Given the description of an element on the screen output the (x, y) to click on. 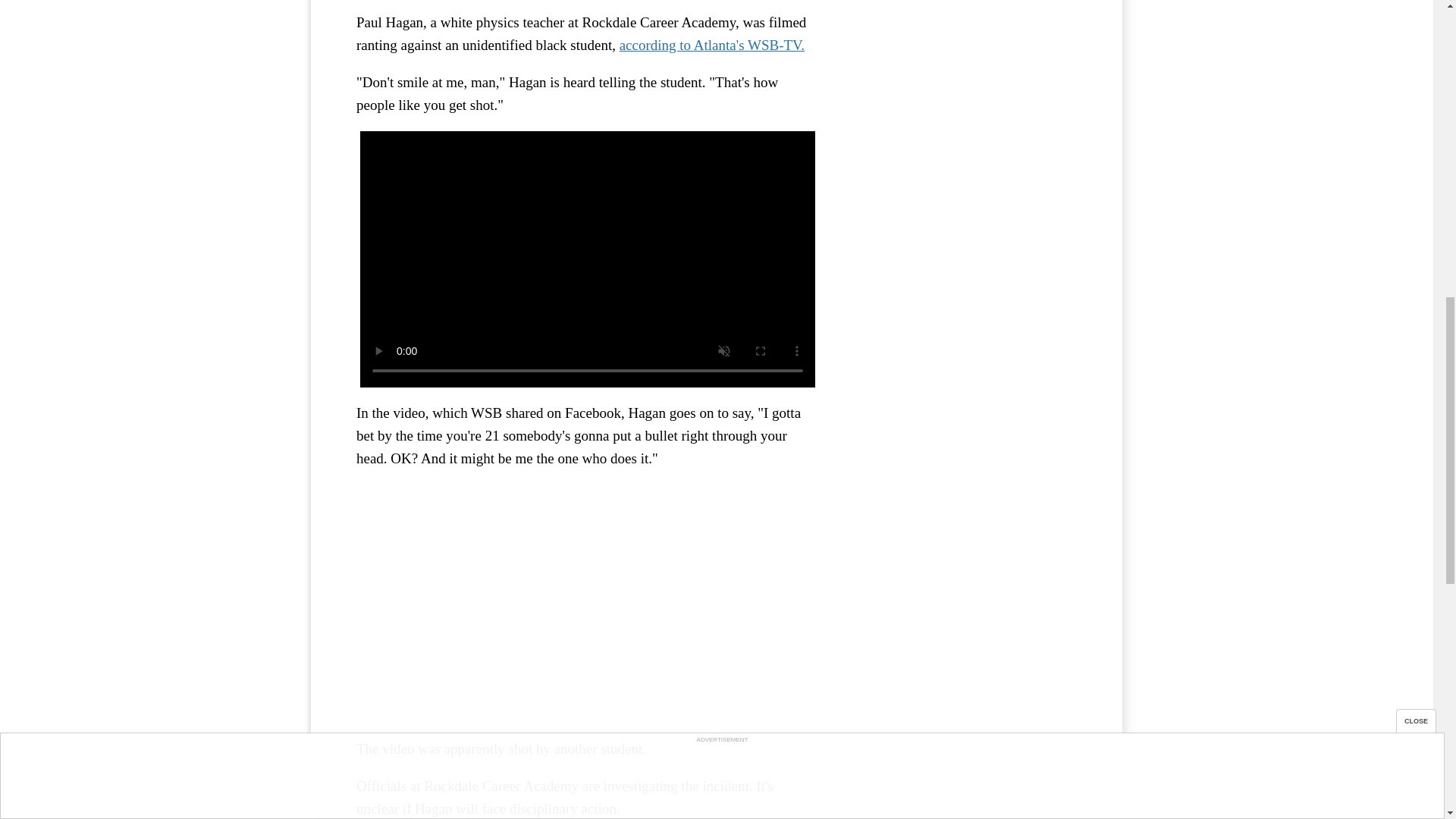
3rd party ad content (962, 47)
